Given the description of an element on the screen output the (x, y) to click on. 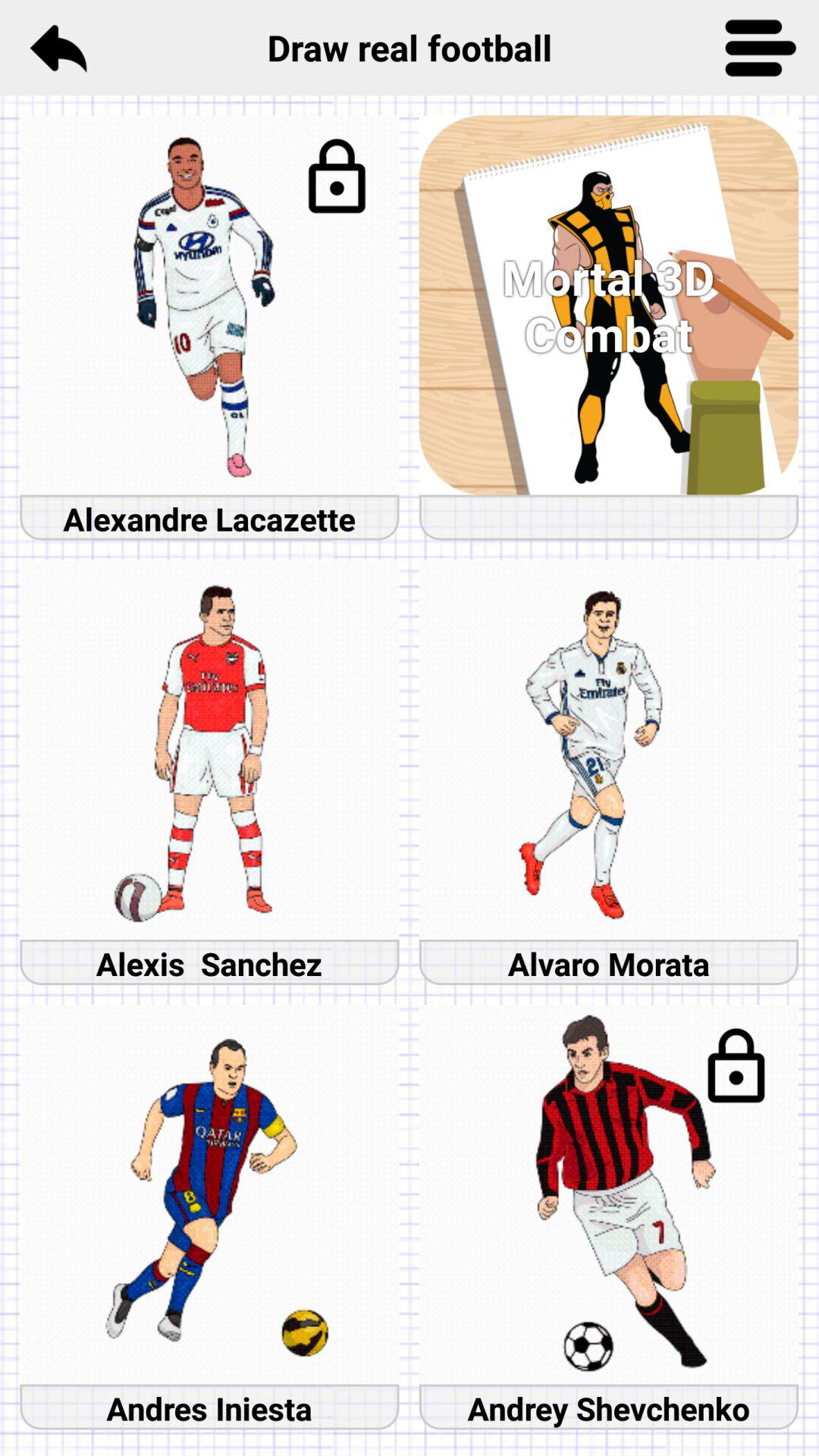
button for a list of more options (760, 47)
